Given the description of an element on the screen output the (x, y) to click on. 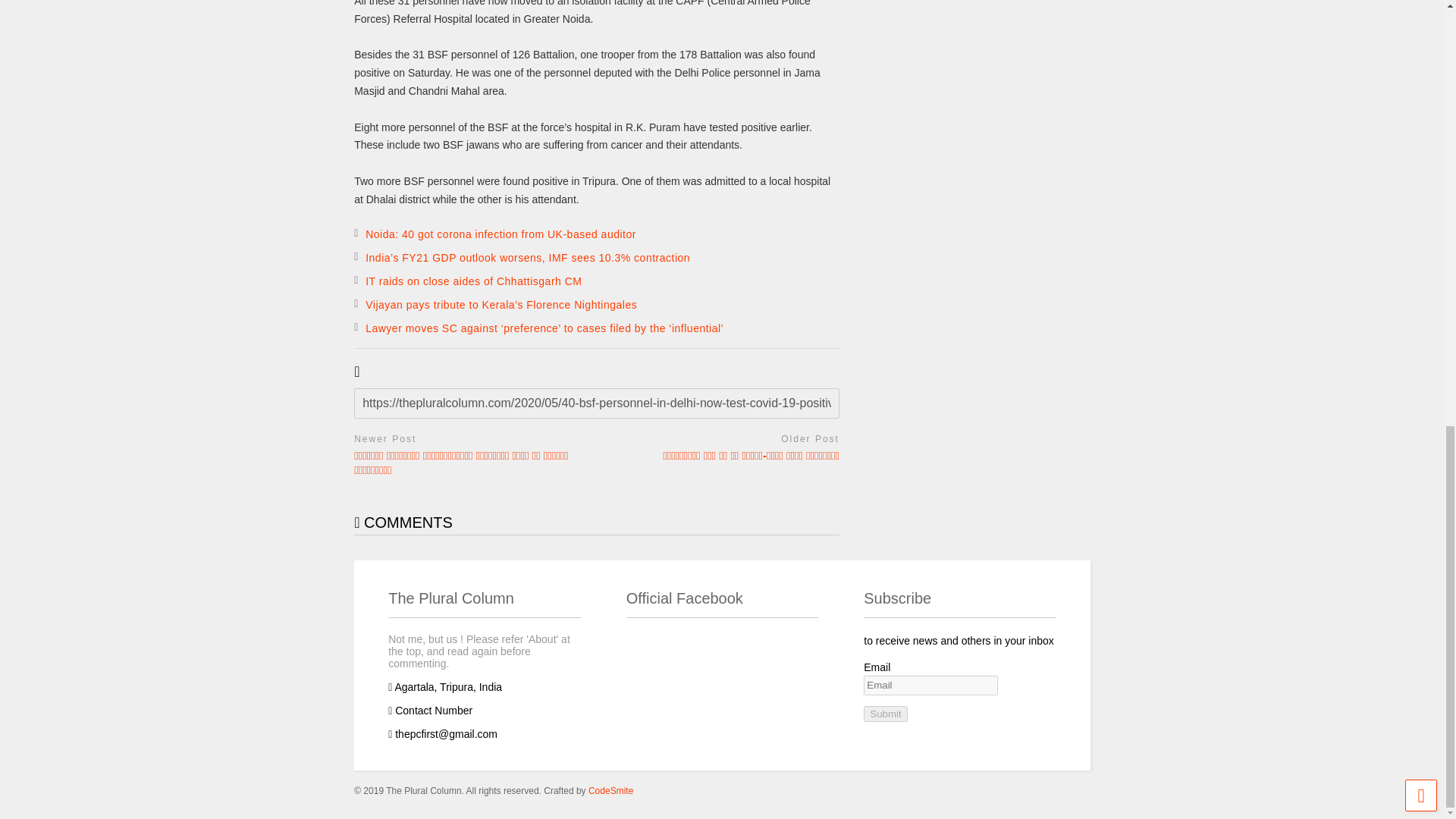
Noida: 40 got corona infection from UK-based auditor (500, 234)
IT raids on close aides of Chhattisgarh CM (472, 281)
Submit (885, 713)
